Given the description of an element on the screen output the (x, y) to click on. 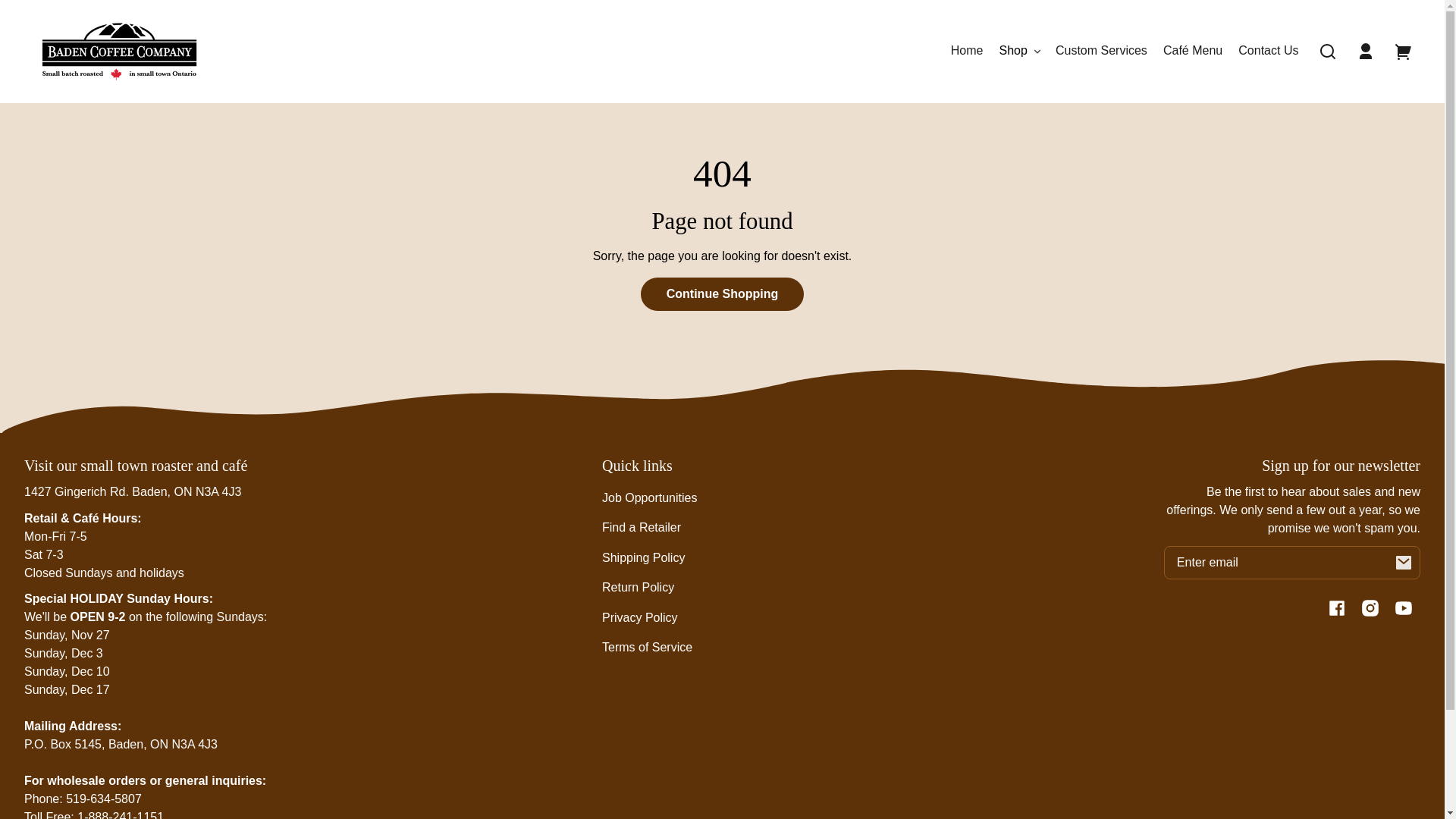
Continue Shopping Element type: text (722, 293)
YouTube Element type: text (1403, 607)
Instagram Element type: text (1369, 607)
Custom Services Element type: text (1101, 51)
Contact Us Element type: text (1268, 51)
Terms of Service Element type: text (647, 647)
Privacy Policy Element type: text (639, 617)
Shipping Policy Element type: text (643, 557)
Shop Element type: text (1018, 51)
Log in Element type: text (1365, 51)
Home Element type: text (966, 51)
Find a Retailer Element type: text (641, 527)
Job Opportunities Element type: text (649, 497)
Your cart Element type: text (1403, 51)
Return Policy Element type: text (638, 587)
Facebook Element type: text (1336, 607)
